Given the description of an element on the screen output the (x, y) to click on. 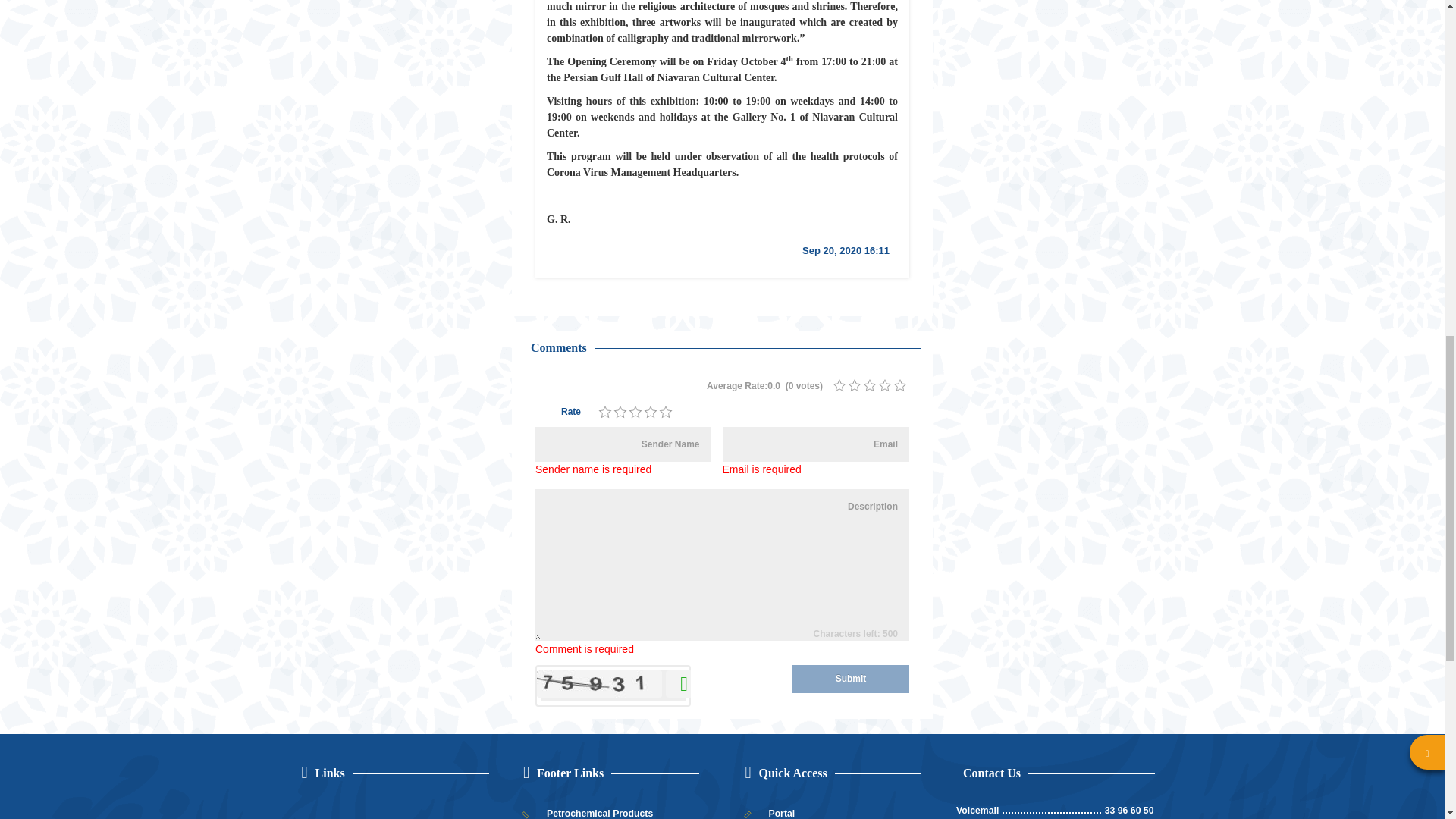
0 (854, 386)
2 (854, 386)
1 (604, 412)
Submit (850, 678)
1 (838, 386)
3 (869, 386)
5 (665, 412)
0 (869, 386)
0 (900, 386)
2 (619, 412)
3 (635, 412)
Portal (832, 812)
Generate New Image (679, 683)
0 (838, 386)
1 (604, 412)
